Given the description of an element on the screen output the (x, y) to click on. 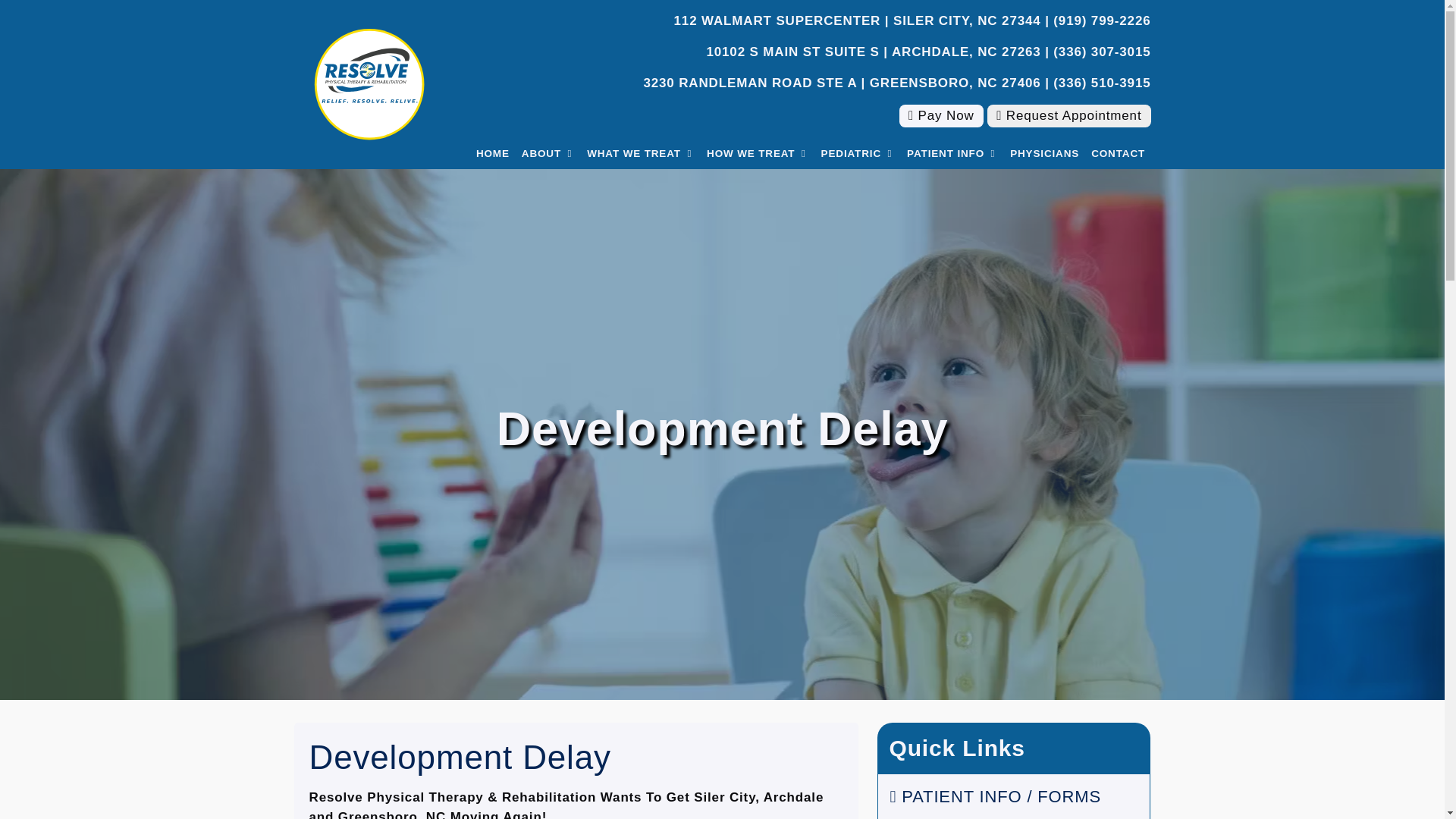
HOME (492, 153)
WHAT WE TREAT (640, 153)
Request Appointment (1068, 115)
Pay Now (941, 115)
ABOUT (547, 153)
